Given the description of an element on the screen output the (x, y) to click on. 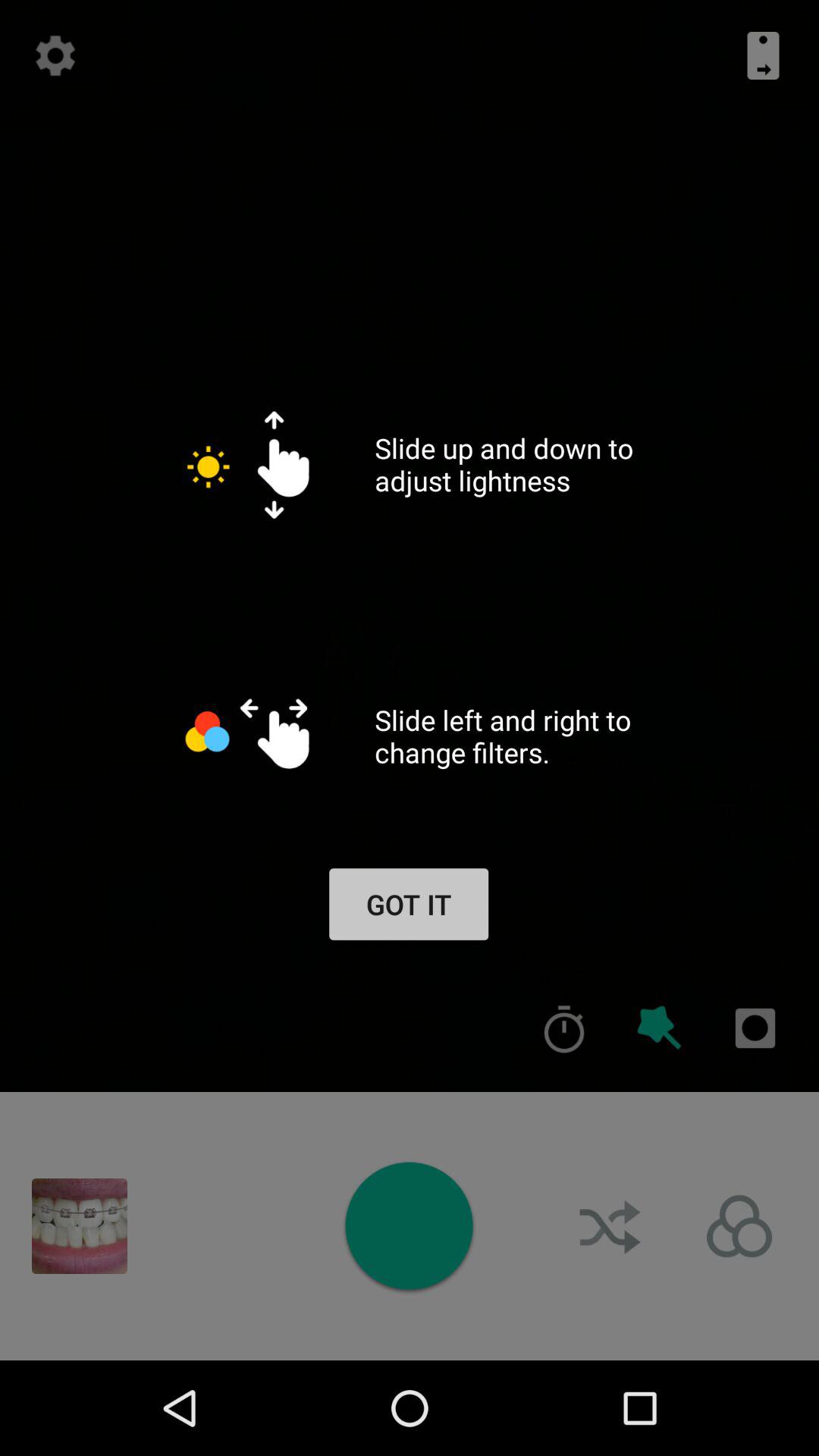
choose filter (739, 1226)
